Given the description of an element on the screen output the (x, y) to click on. 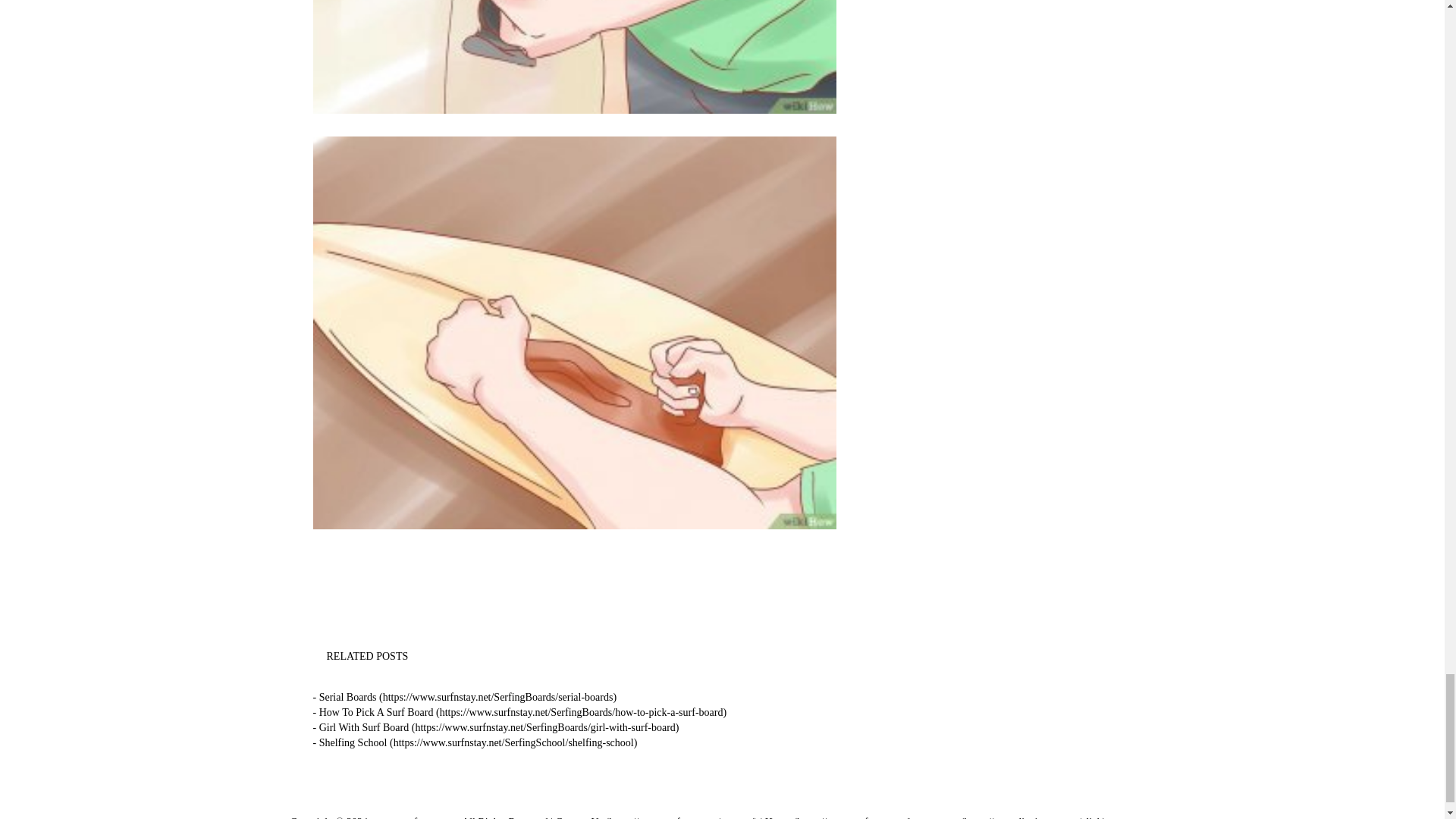
- Serial Boards (464, 696)
- Girl With Surf Board (495, 727)
- Shelfing School (475, 742)
- How To Pick A Surf Board (519, 712)
